Given the description of an element on the screen output the (x, y) to click on. 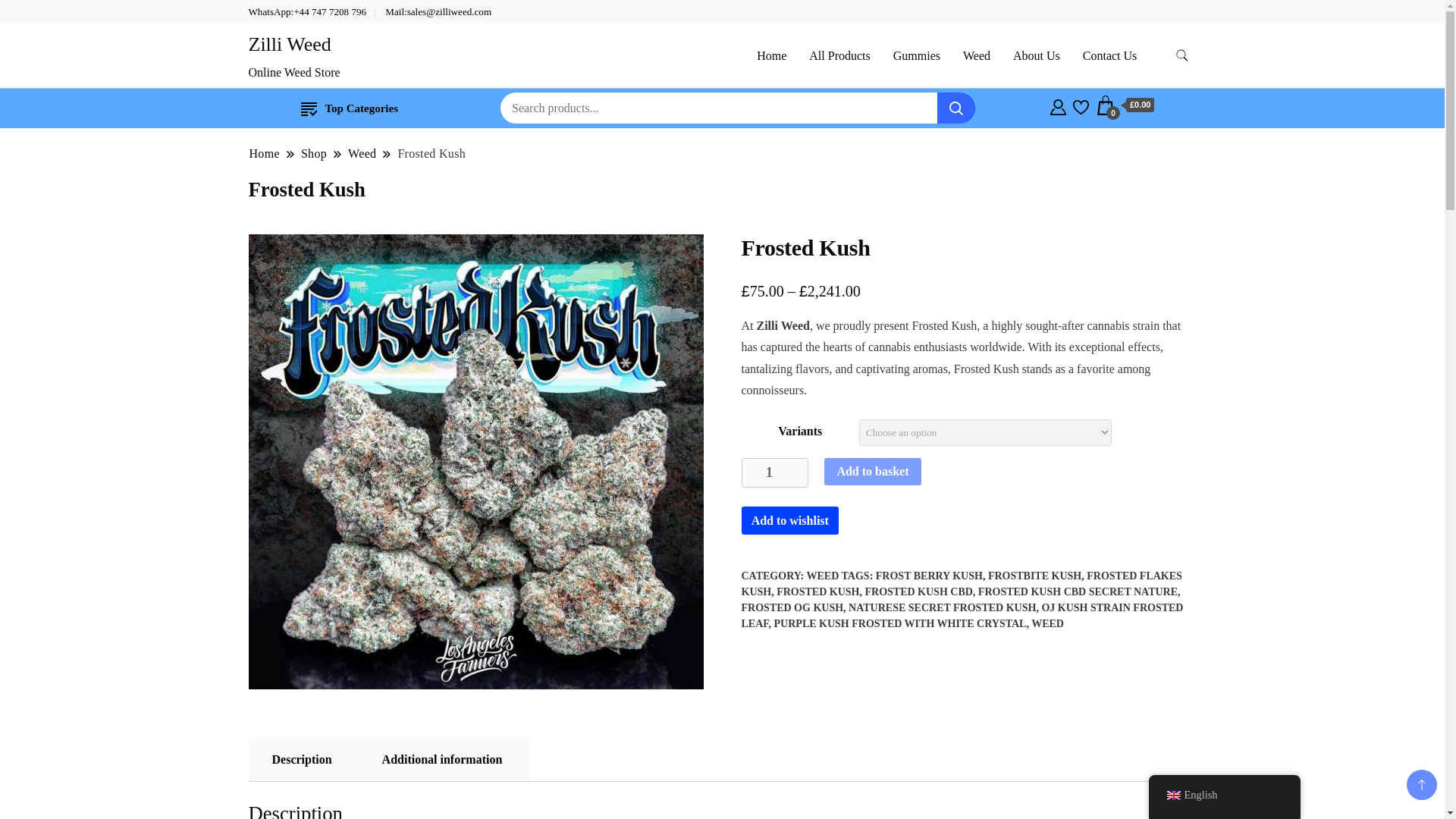
Cart (1125, 105)
Products in Wishlist (1081, 105)
Shop (313, 153)
My Account (1057, 105)
Zilli Weed (289, 44)
Home (264, 153)
Weed (362, 153)
English (1172, 795)
All Products (839, 55)
